Given the description of an element on the screen output the (x, y) to click on. 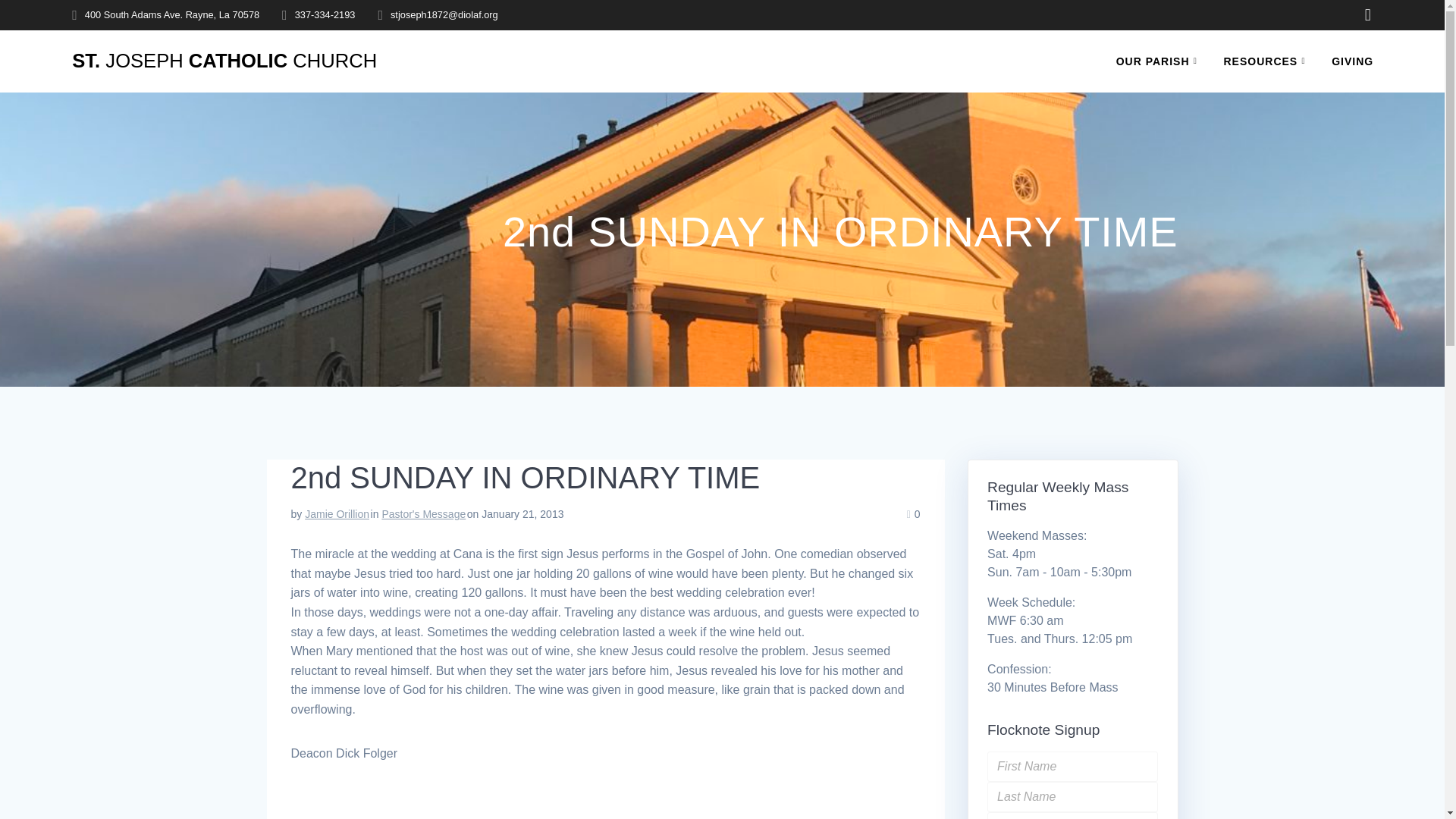
Jamie Orillion (336, 513)
OUR PARISH (1160, 61)
Pastor's Message (423, 513)
Posts by Jamie Orillion (336, 513)
ST. JOSEPH CATHOLIC CHURCH (224, 61)
GIVING (1352, 61)
RESOURCES (1267, 61)
